Given the description of an element on the screen output the (x, y) to click on. 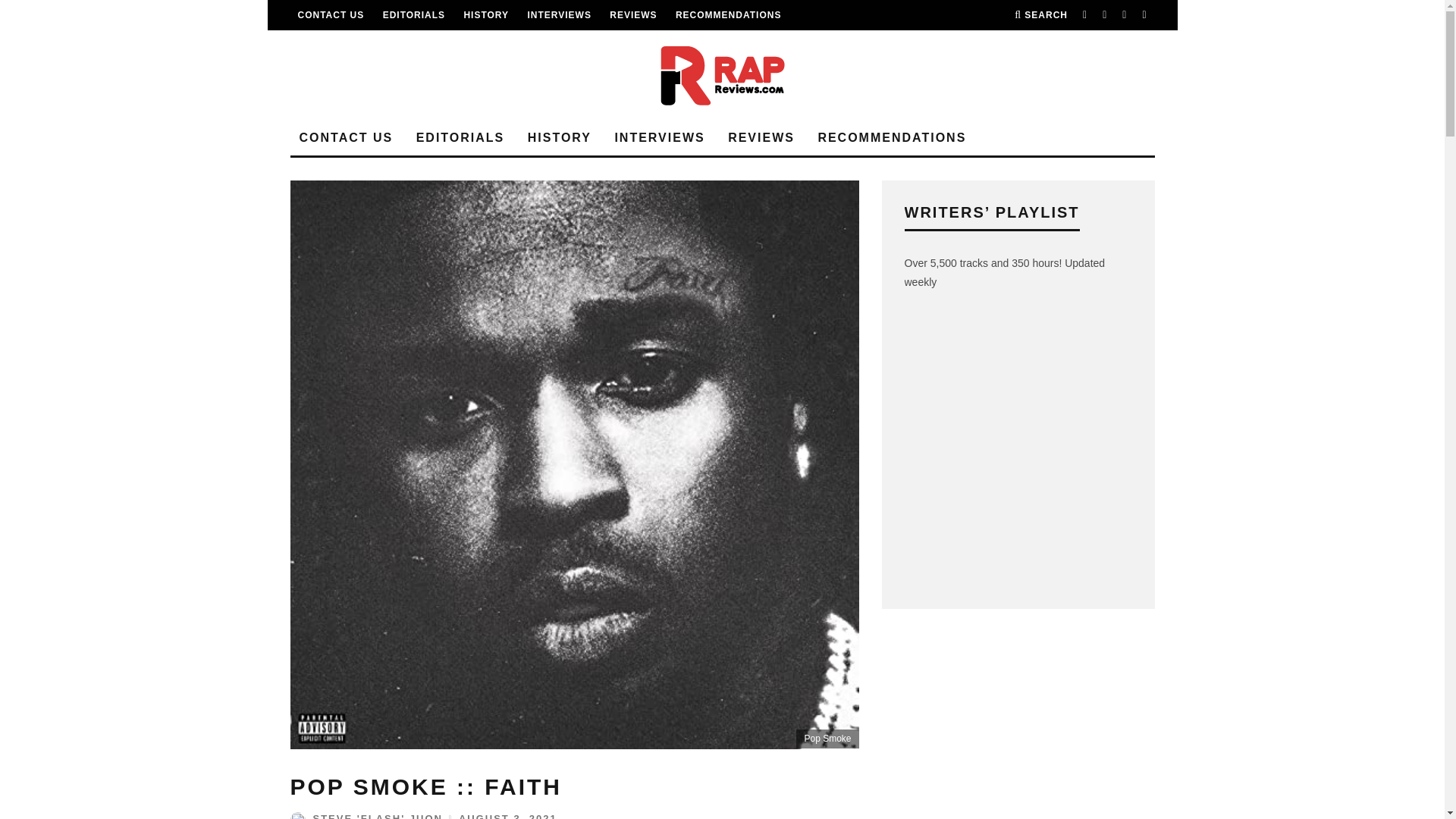
HISTORY (485, 15)
INTERVIEWS (559, 15)
EDITORIALS (413, 15)
REVIEWS (633, 15)
SEARCH (1040, 15)
CONTACT US (330, 15)
RECOMMENDATIONS (727, 15)
Search (1040, 15)
